Given the description of an element on the screen output the (x, y) to click on. 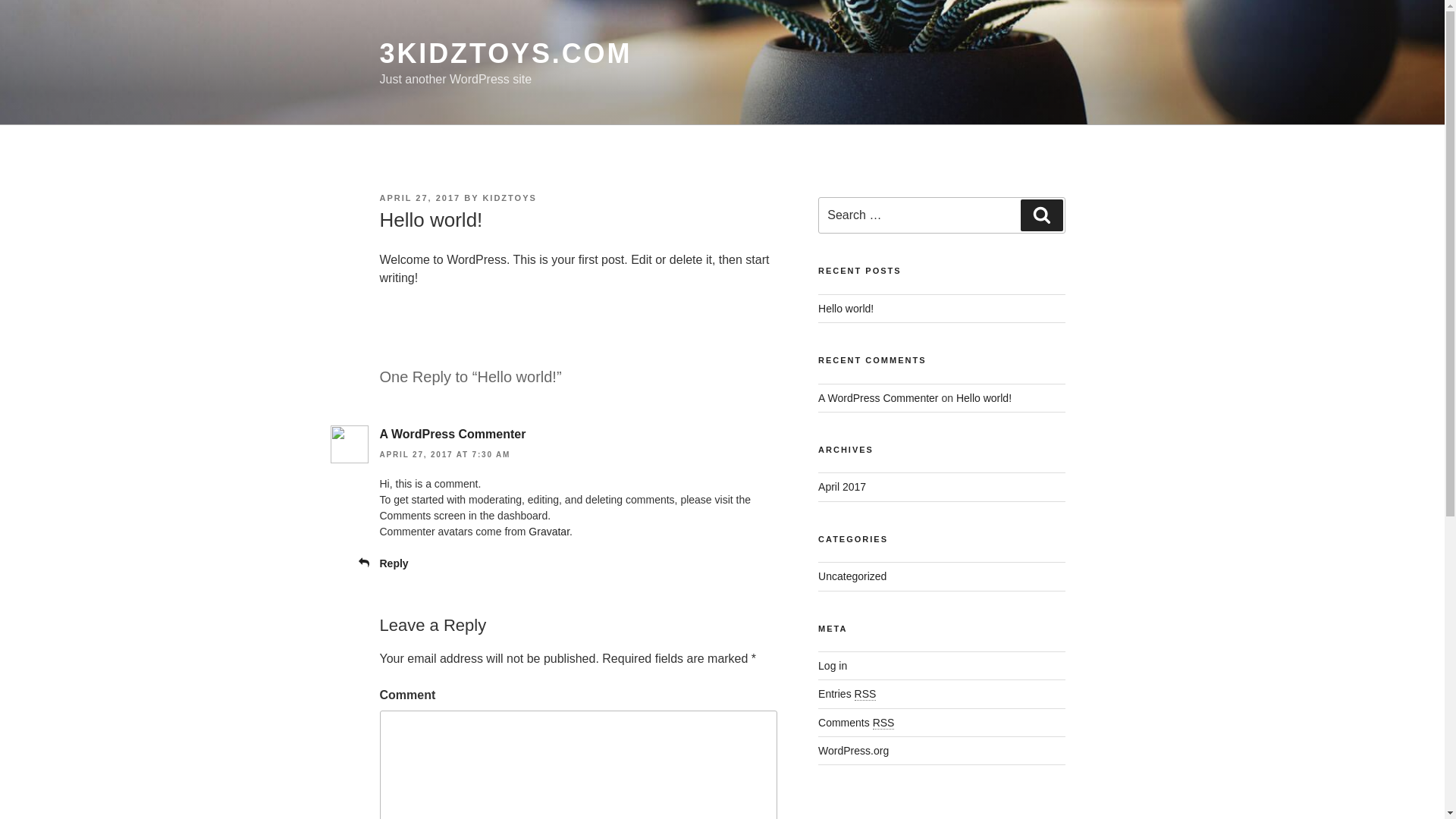
Uncategorized Element type: text (852, 576)
Entries RSS Element type: text (846, 693)
Search Element type: text (1041, 215)
APRIL 27, 2017 Element type: text (419, 197)
APRIL 27, 2017 AT 7:30 AM Element type: text (444, 454)
3KIDZTOYS.COM Element type: text (505, 53)
Gravatar Element type: text (548, 531)
WordPress.org Element type: text (853, 750)
Hello world! Element type: text (845, 308)
April 2017 Element type: text (842, 486)
Skip to content Element type: text (0, 0)
KIDZTOYS Element type: text (509, 197)
Comments RSS Element type: text (856, 722)
Reply Element type: text (393, 563)
Log in Element type: text (832, 665)
A WordPress Commenter Element type: text (878, 398)
A WordPress Commenter Element type: text (452, 433)
Hello world! Element type: text (983, 398)
